Given the description of an element on the screen output the (x, y) to click on. 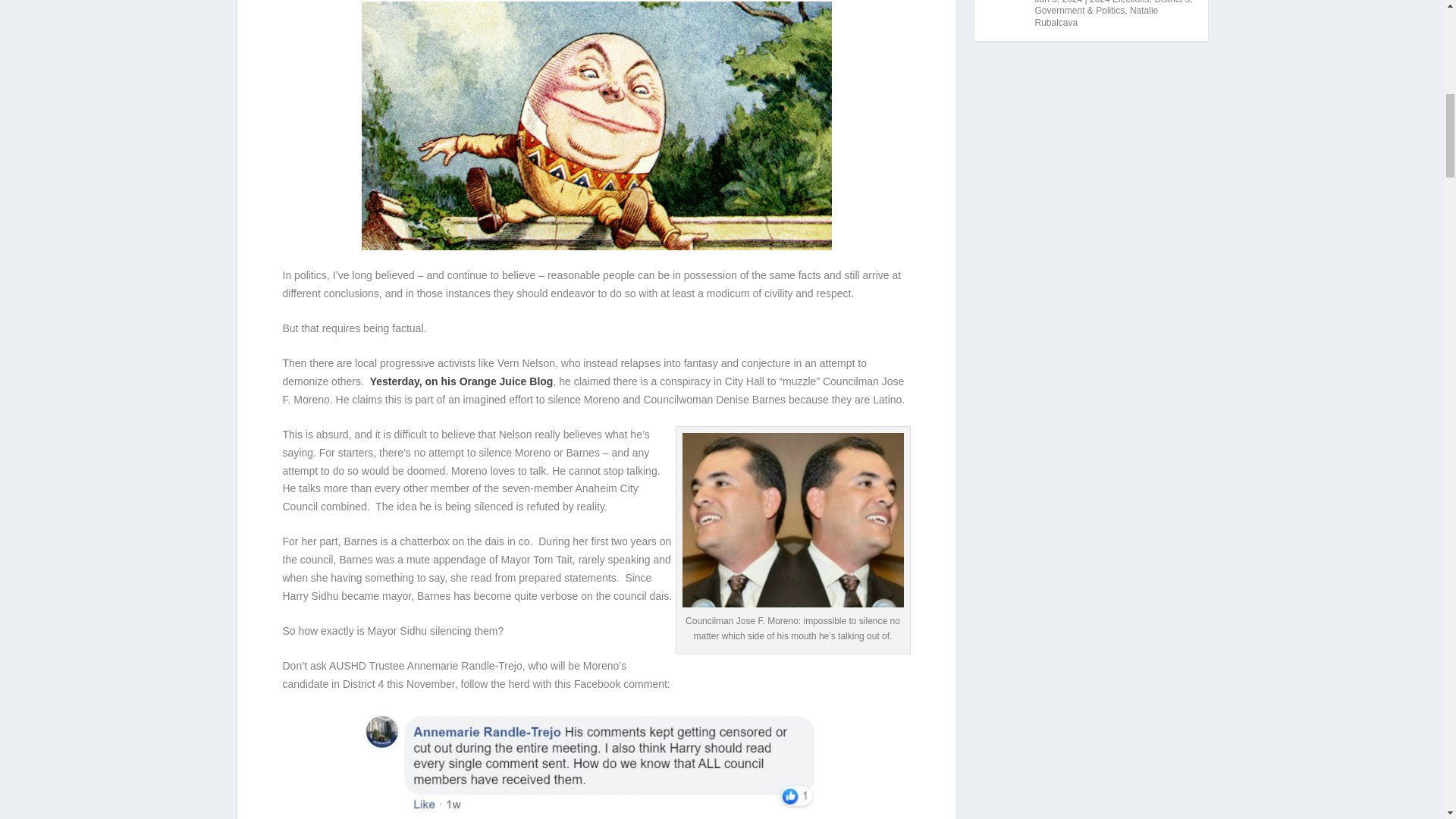
Yesterday, on his Orange Juice Blog (461, 381)
